Given the description of an element on the screen output the (x, y) to click on. 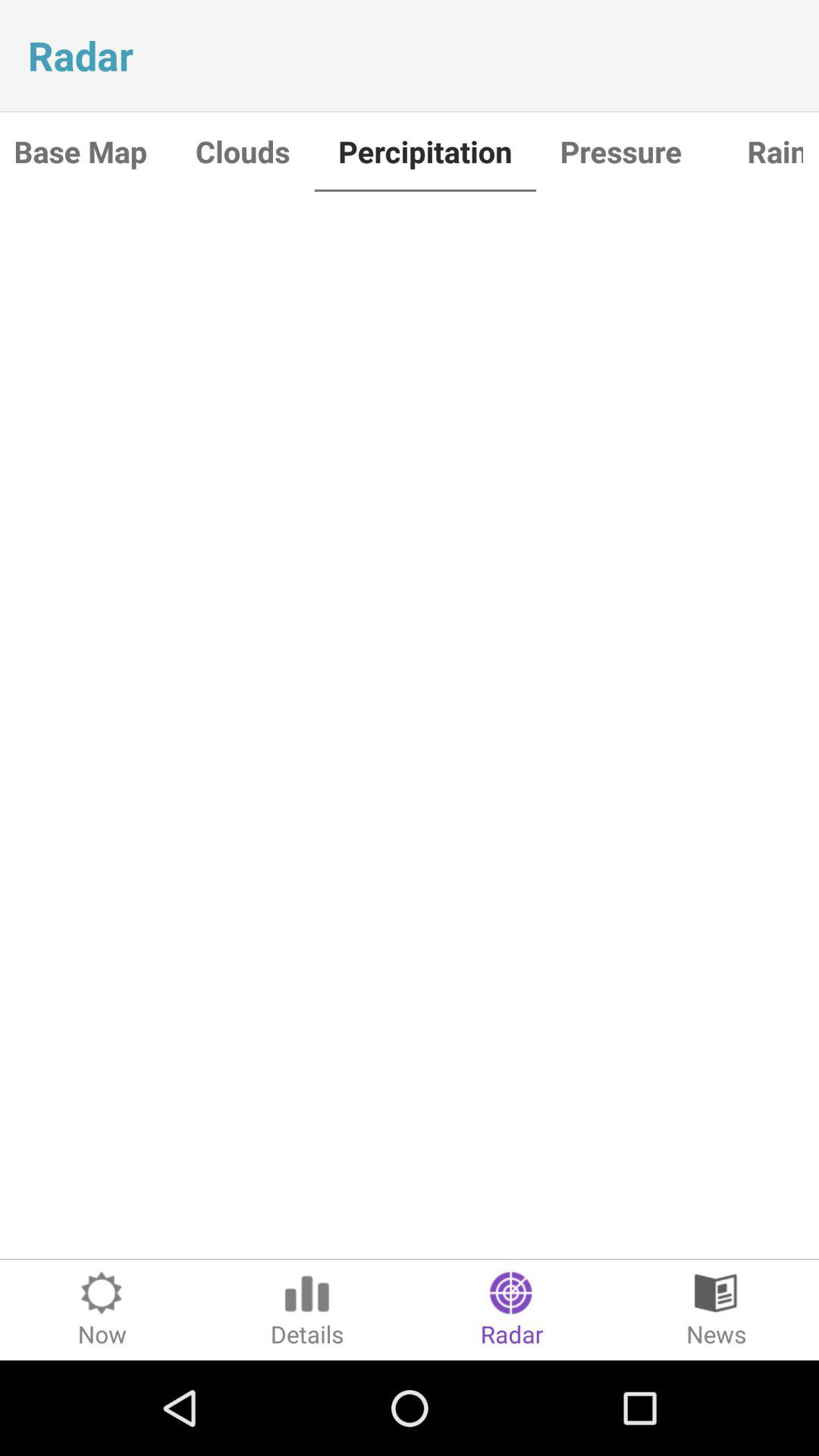
select icon to the right of radar (716, 1310)
